Given the description of an element on the screen output the (x, y) to click on. 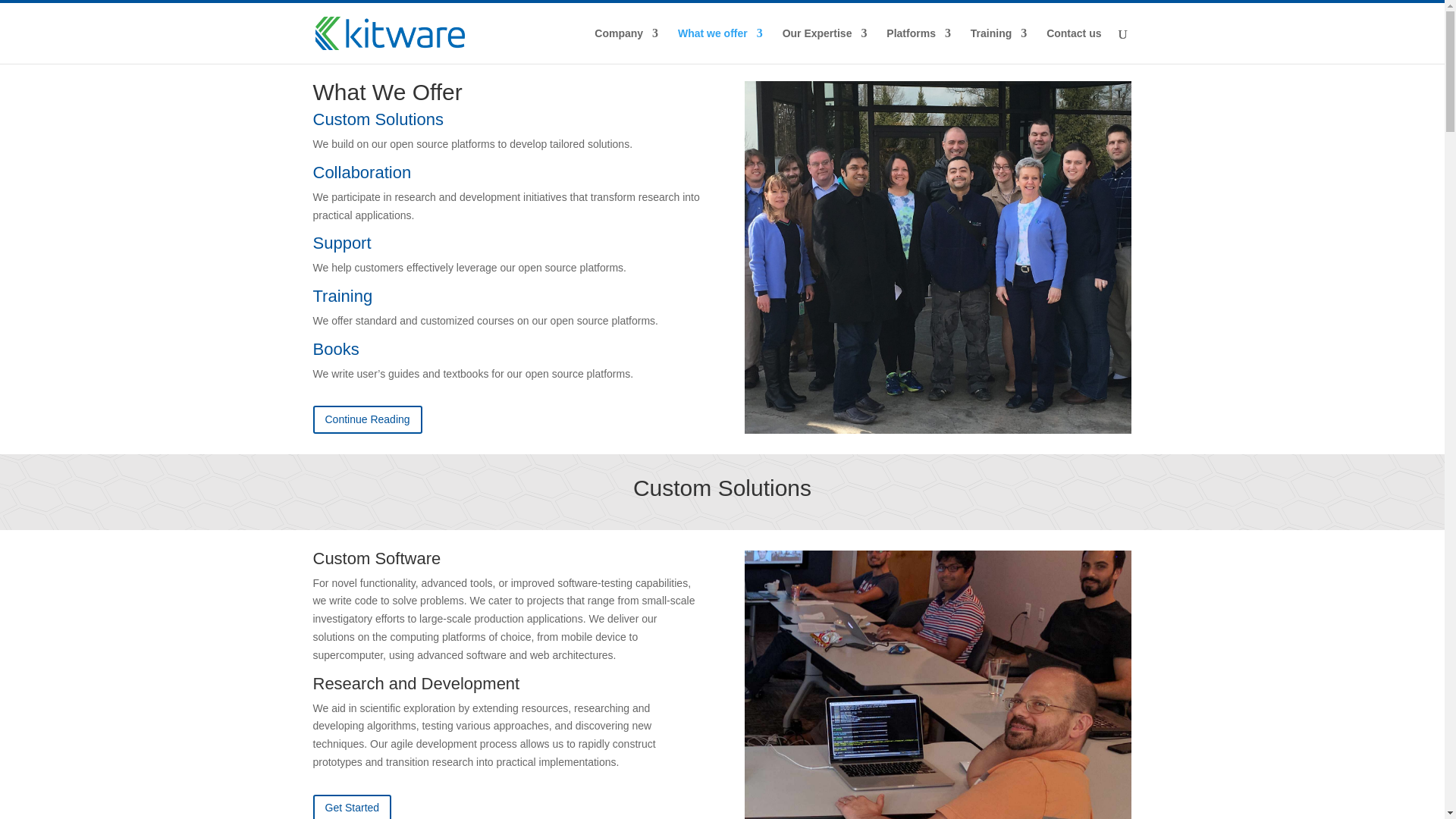
Our Expertise (825, 45)
Platforms (918, 45)
What we offer (720, 45)
Training (998, 45)
Company (626, 45)
